Given the description of an element on the screen output the (x, y) to click on. 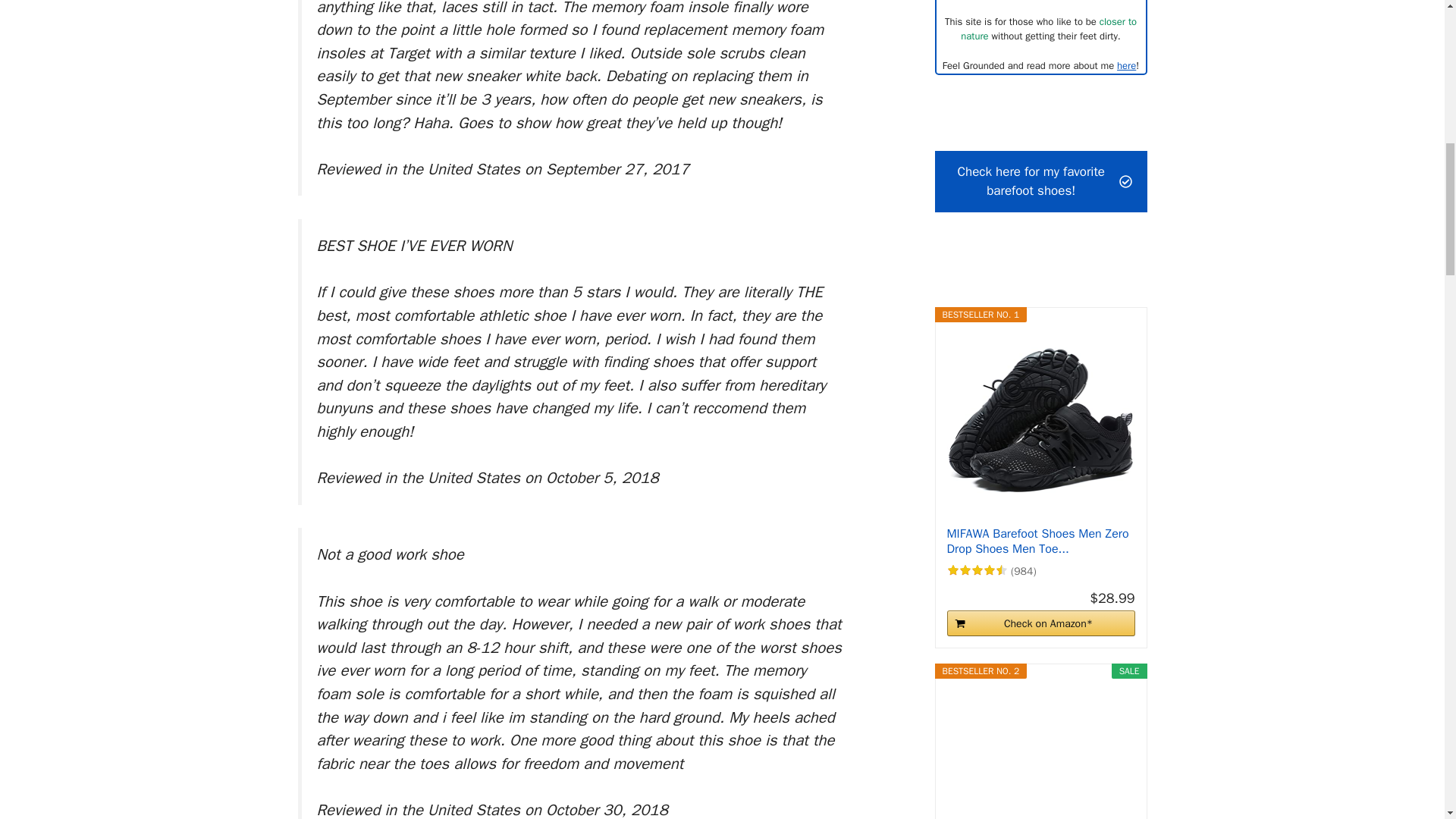
Reviews on Amazon (976, 570)
